Given the description of an element on the screen output the (x, y) to click on. 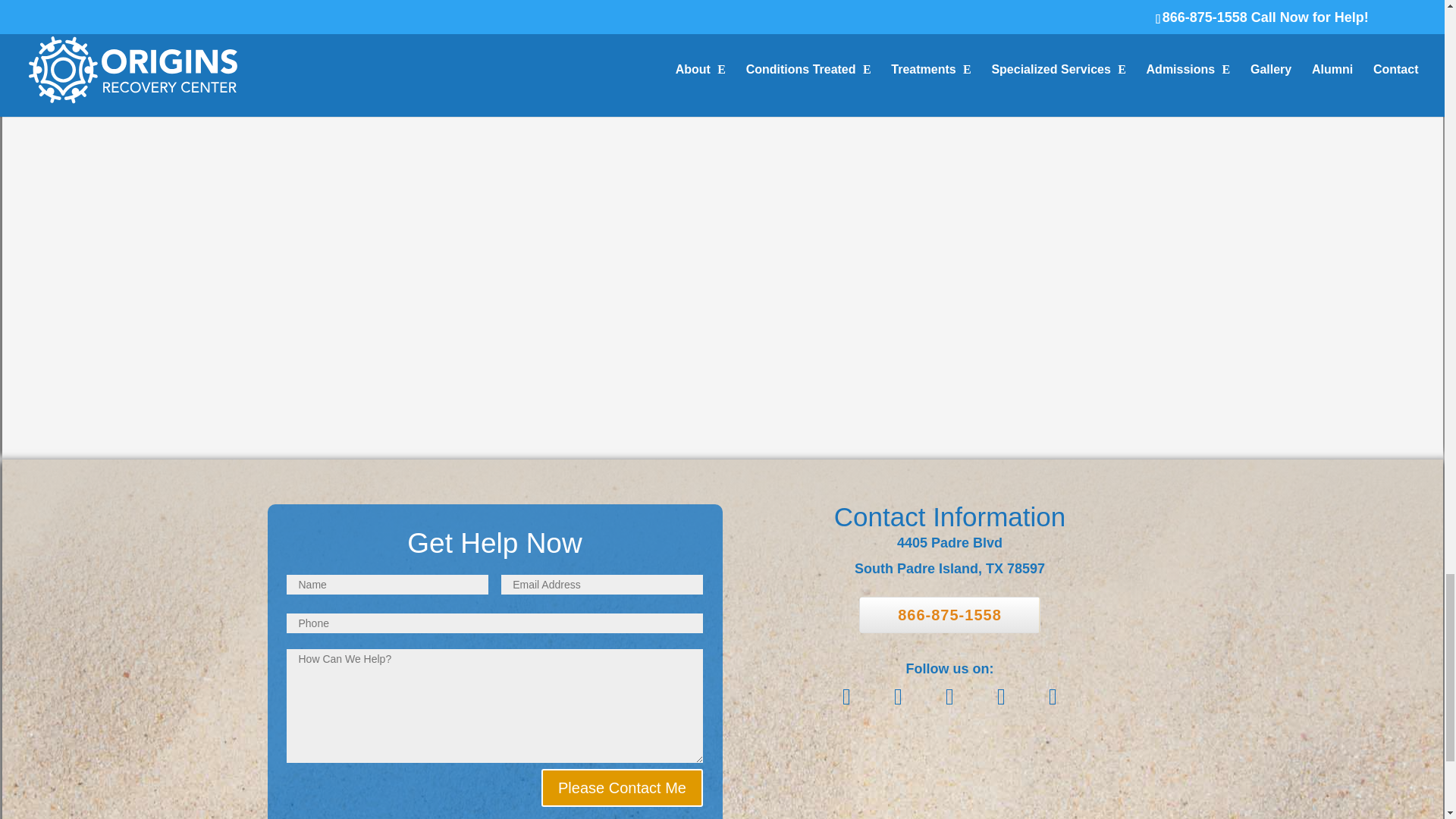
Follow on LinkedIn (949, 696)
Follow on Youtube (1000, 696)
Follow on X (897, 696)
Follow on Facebook (846, 696)
Follow on Instagram (1052, 696)
